Given the description of an element on the screen output the (x, y) to click on. 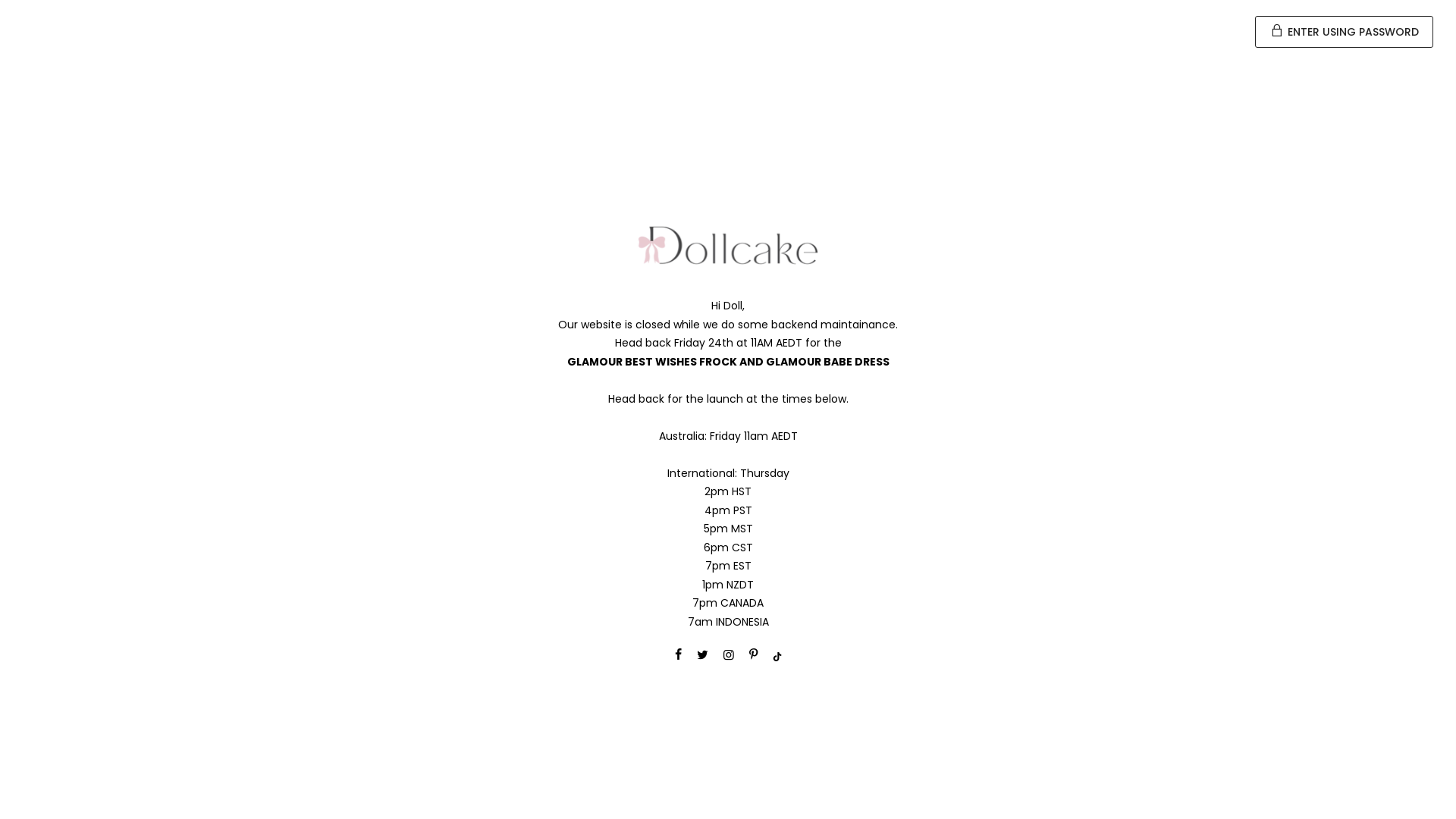
ENTER USING PASSWORD Element type: text (1344, 31)
